Given the description of an element on the screen output the (x, y) to click on. 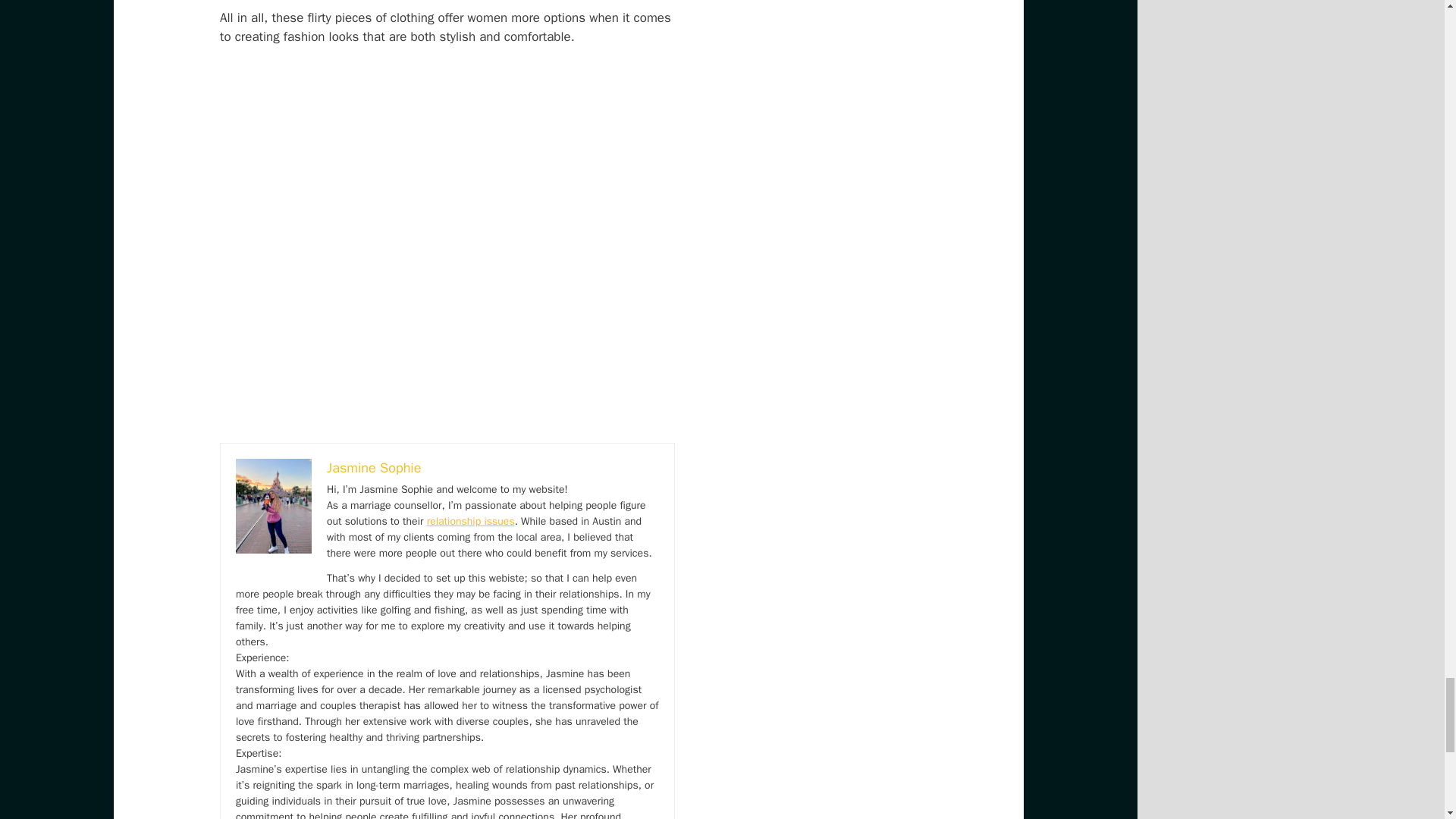
Jasmine Sophie (373, 467)
relationship issues (470, 521)
